Given the description of an element on the screen output the (x, y) to click on. 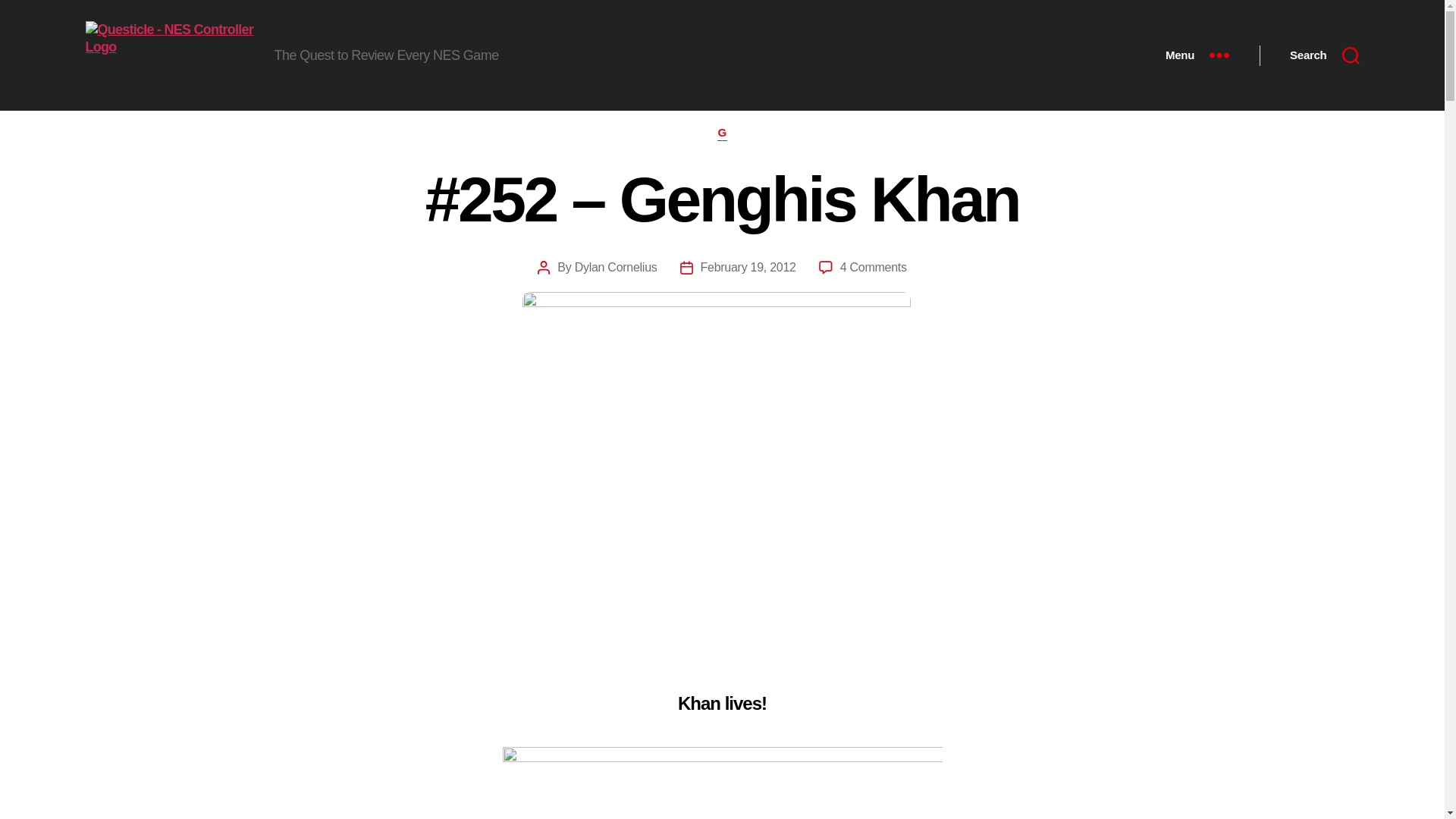
Dylan Cornelius (616, 267)
Search (1324, 55)
Menu (1197, 55)
February 19, 2012 (748, 267)
4 Comments (873, 267)
